Given the description of an element on the screen output the (x, y) to click on. 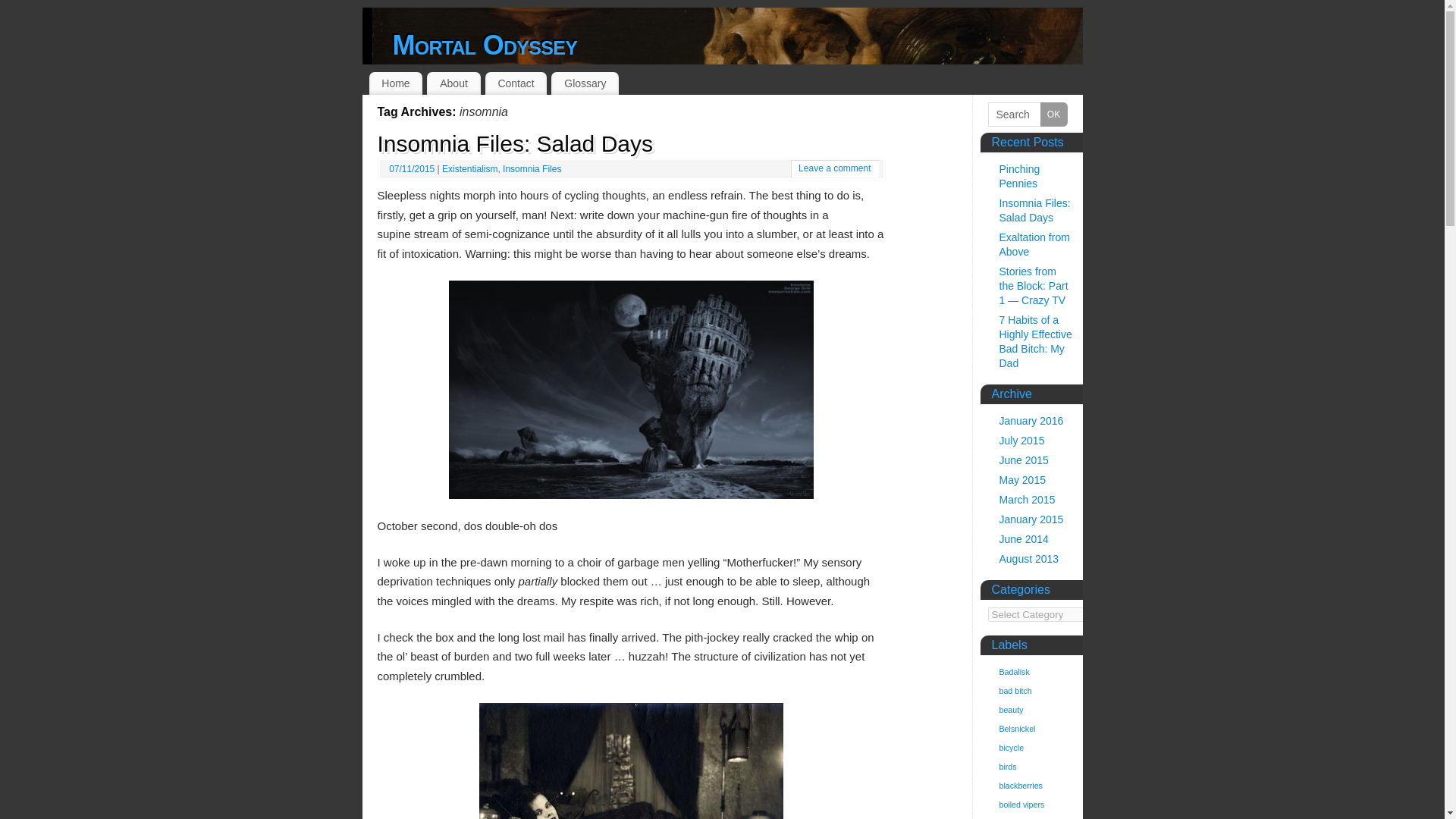
Mortal Odyssey (485, 44)
9:48 pm (412, 168)
Mortal Odyssey (485, 44)
Search (1027, 114)
Glossary (584, 83)
OK (1054, 114)
Leave a comment (833, 167)
Insomnia Files: Salad Days (515, 143)
Existentialism (469, 168)
1 topics (1015, 690)
